Given the description of an element on the screen output the (x, y) to click on. 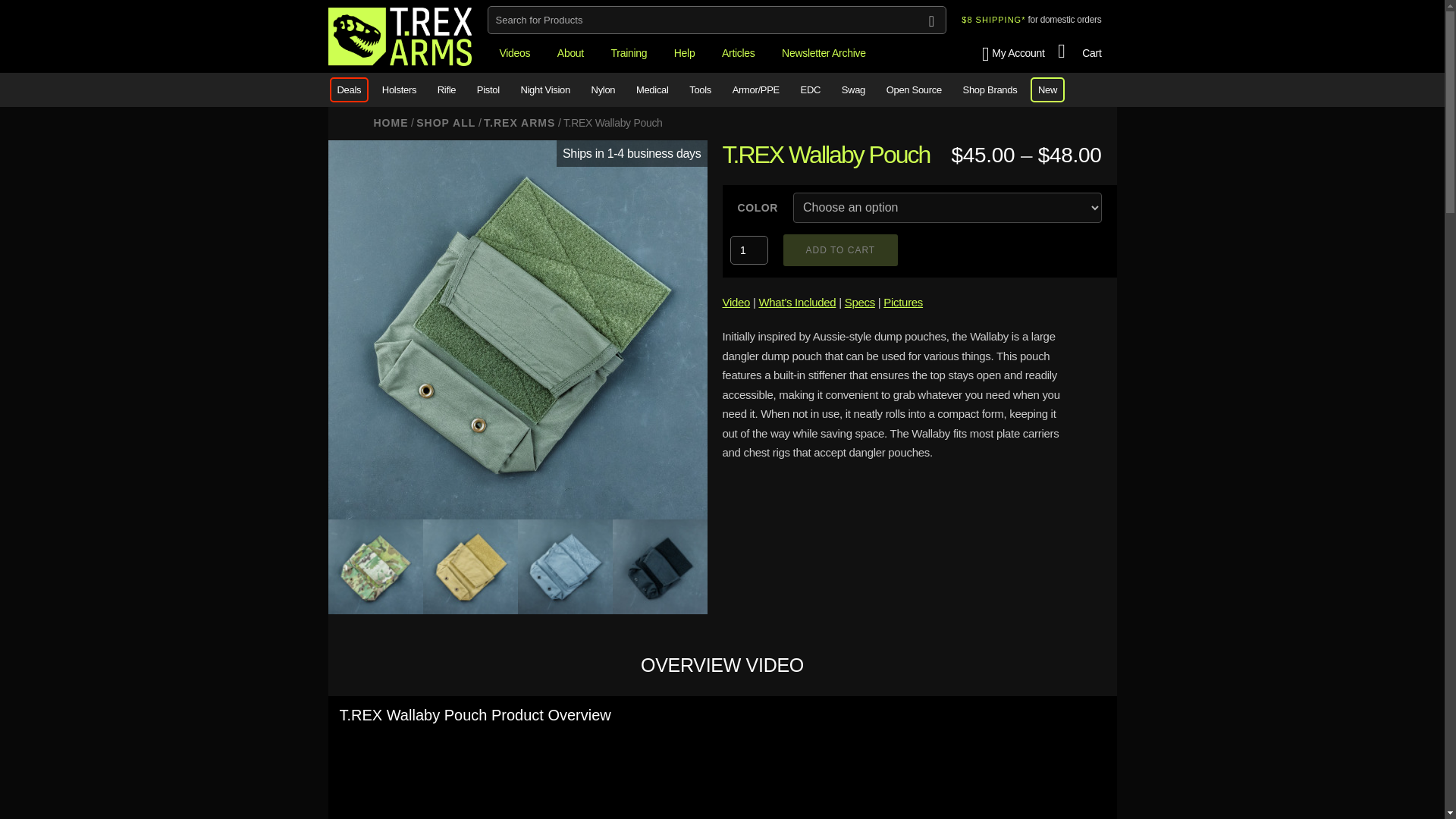
Videos (513, 53)
Holsters (398, 89)
Articles (738, 53)
Help (684, 53)
Rifle (446, 89)
Training (628, 53)
Deals (348, 89)
Help (684, 53)
Articles (738, 53)
View your shopping cart (1079, 53)
Newsletter Archive (823, 53)
Deals (348, 89)
About (569, 53)
Training (628, 53)
1 (748, 249)
